Given the description of an element on the screen output the (x, y) to click on. 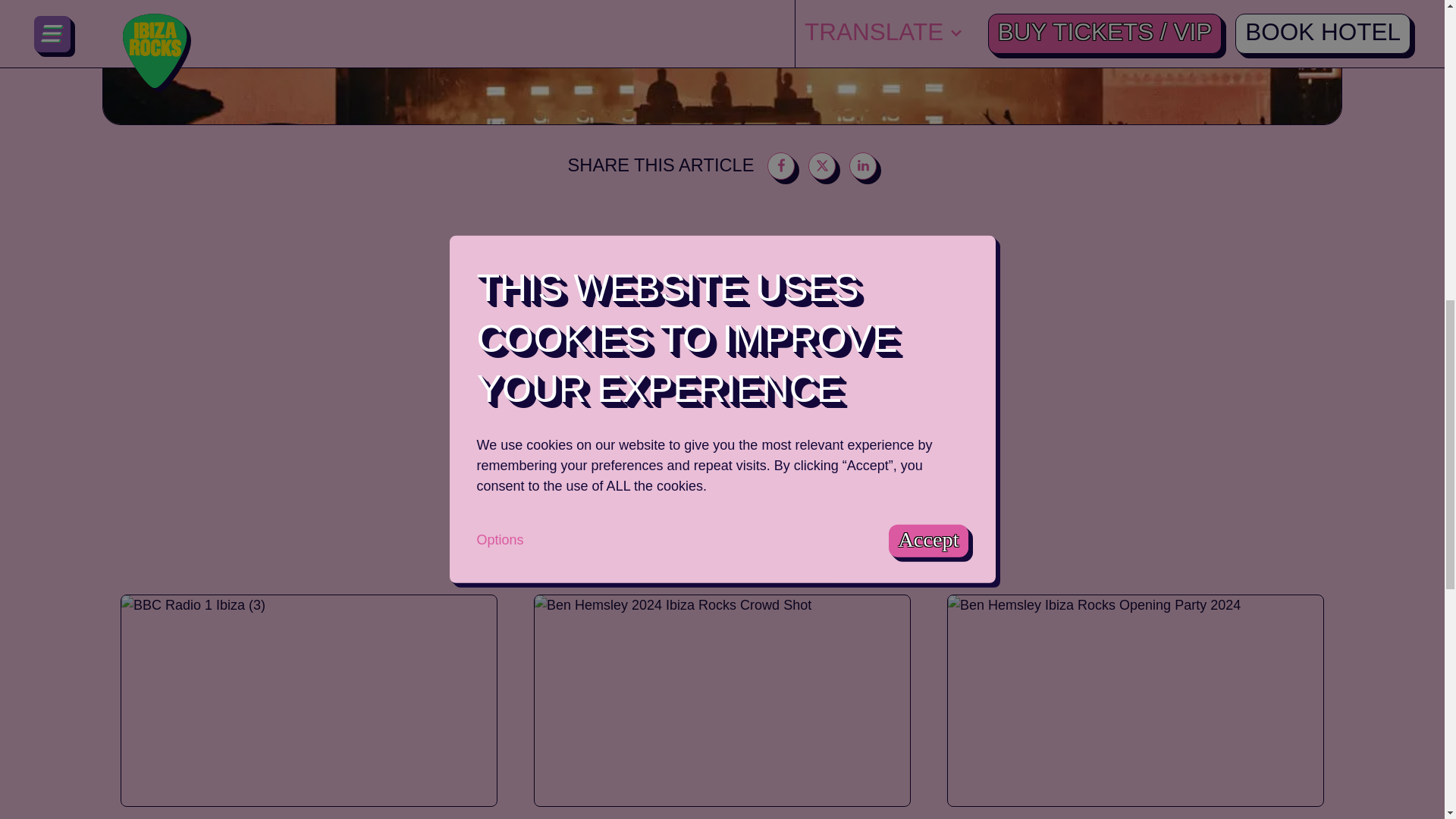
Share on LinkedIn (862, 165)
Share on Facebook (780, 165)
Share on Twitter (821, 165)
